Given the description of an element on the screen output the (x, y) to click on. 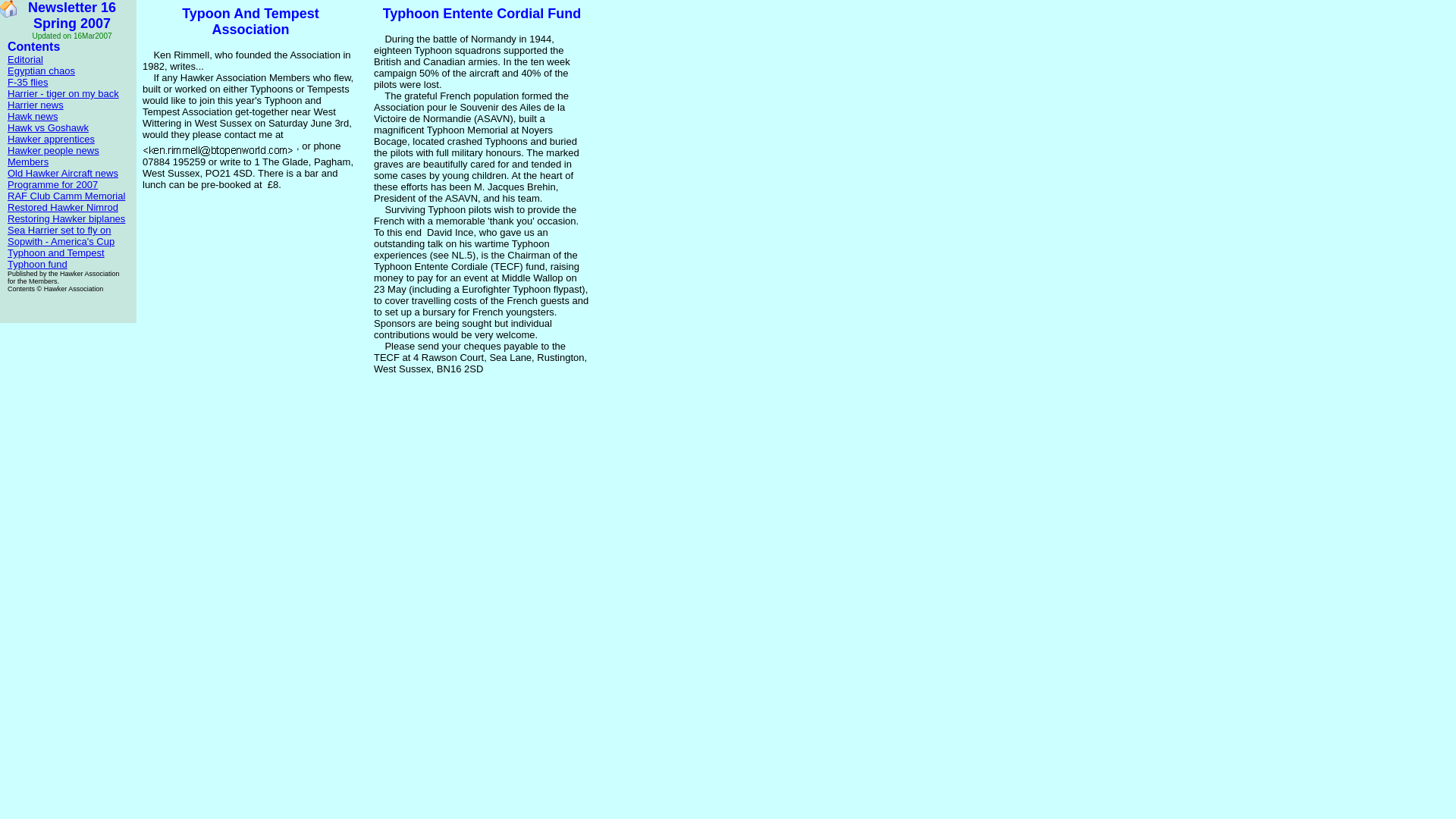
F-35 flies (27, 81)
Restoring Hawker biplanes (66, 218)
Home (8, 8)
Old Hawker Aircraft news (62, 173)
Typhoon and Tempest (55, 252)
Sea Harrier set to fly on (59, 229)
Hawk vs Goshawk (47, 127)
Hawk news (32, 116)
Programme for 2007 (52, 184)
Restored Hawker Nimrod (62, 206)
